Given the description of an element on the screen output the (x, y) to click on. 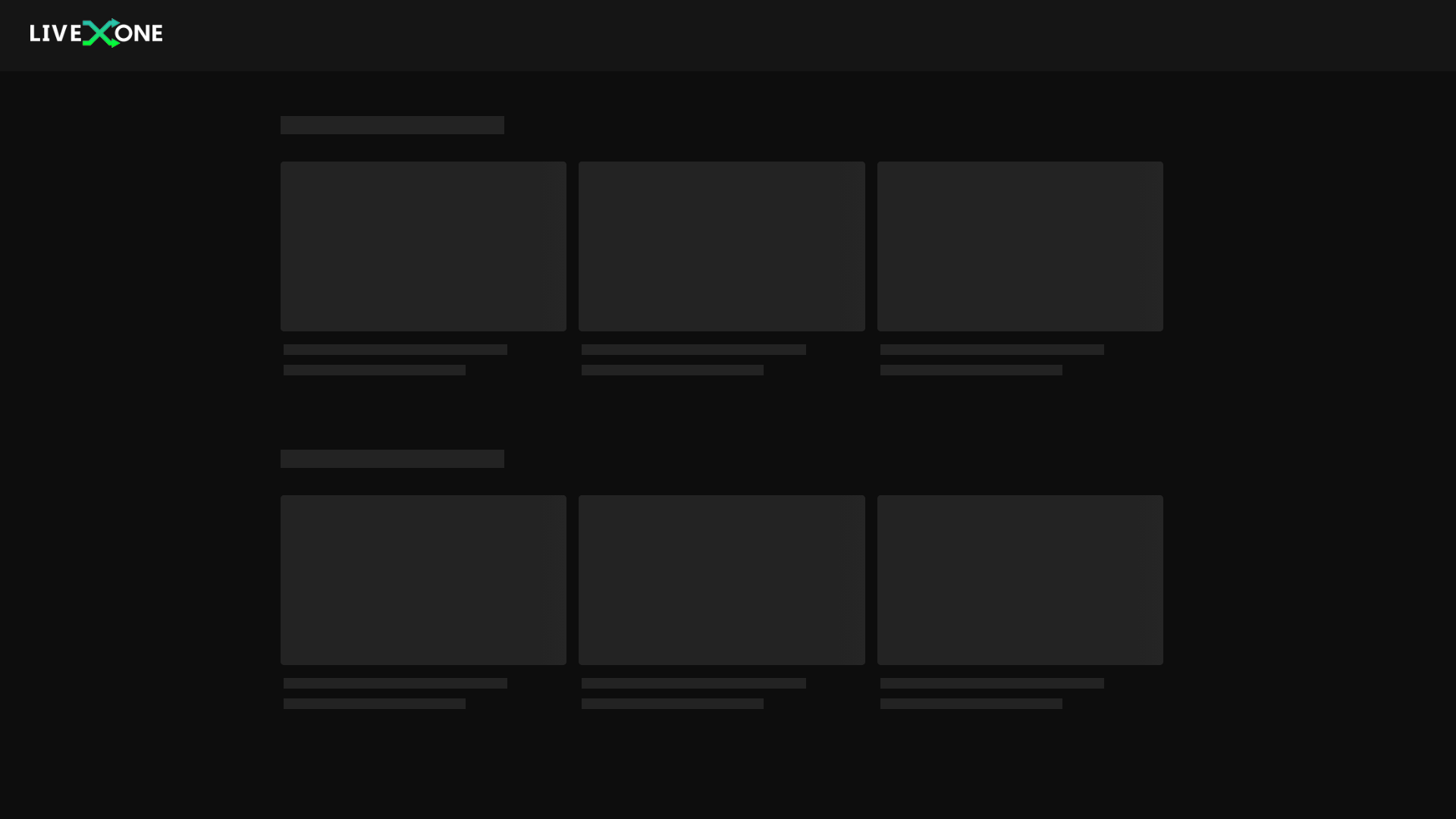
LiveOne on X (1144, 781)
LiveOne on Facebook (1167, 781)
LiveOne on TikTok (1096, 781)
LiveOne on YouTube (1120, 781)
LiveOne on Instagram (1072, 781)
